Given the description of an element on the screen output the (x, y) to click on. 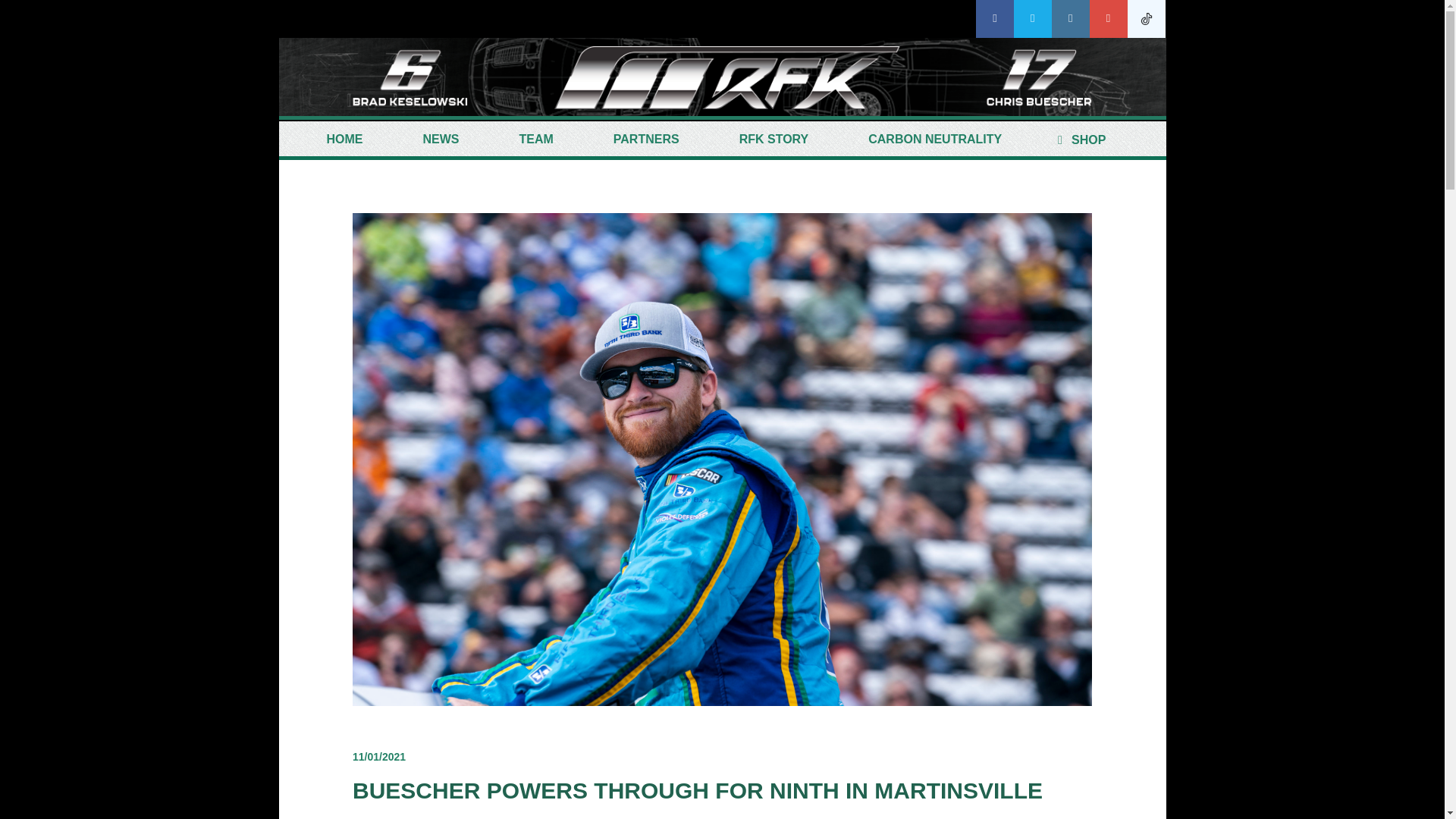
PARTNERS (646, 139)
RFK STORY (773, 139)
HOME (344, 139)
NEWS (440, 139)
TEAM (536, 139)
CARBON NEUTRALITY (935, 139)
SHOP  (1078, 139)
